Given the description of an element on the screen output the (x, y) to click on. 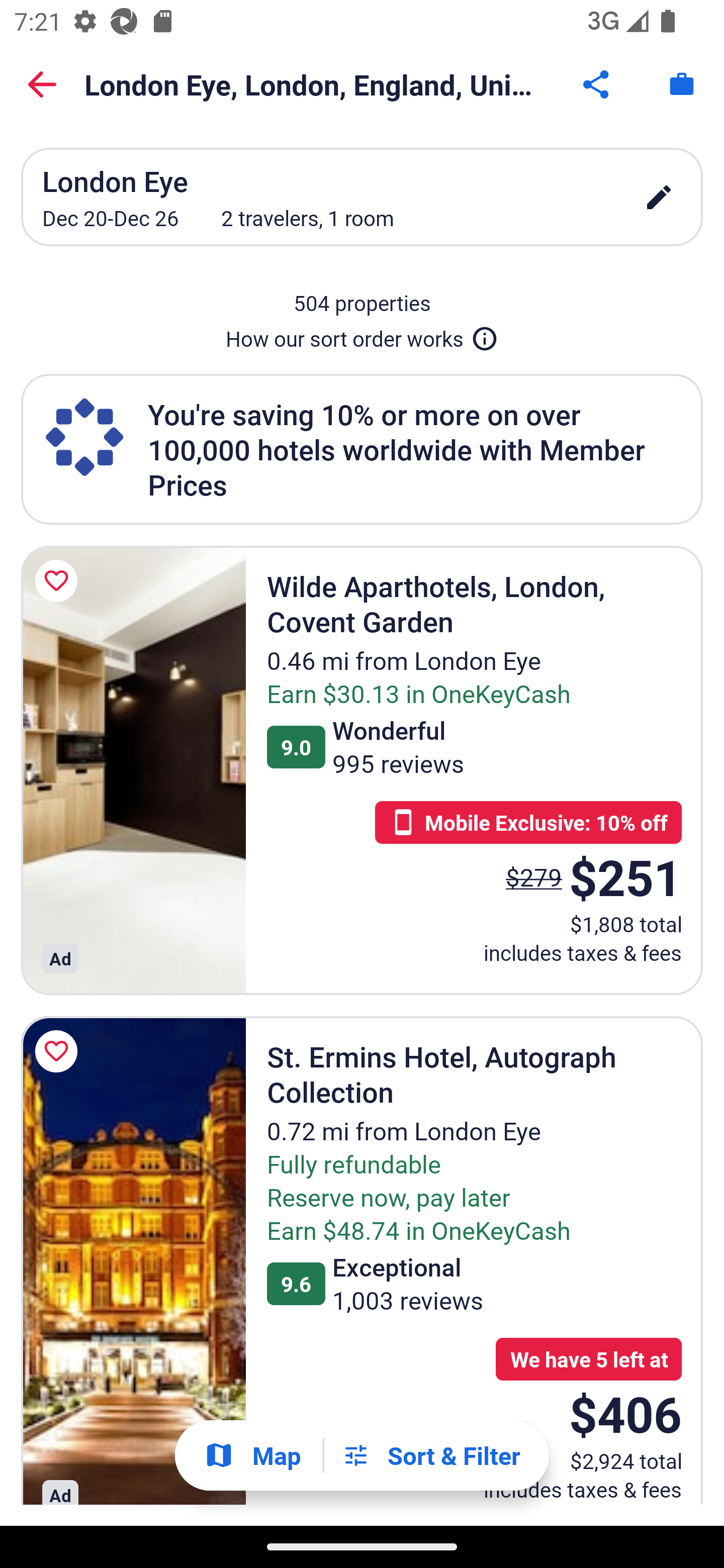
Back (42, 84)
Share Button (597, 84)
Trips. Button (681, 84)
London Eye Dec 20-Dec 26 2 travelers, 1 room edit (361, 196)
How our sort order works (361, 334)
Wilde Aparthotels, London, Covent Garden (133, 770)
$279 The price was $279 (533, 876)
St. Ermins Hotel, Autograph Collection (133, 1260)
Filters Sort & Filter Filters Button (430, 1455)
Show map Map Show map Button (252, 1455)
